Given the description of an element on the screen output the (x, y) to click on. 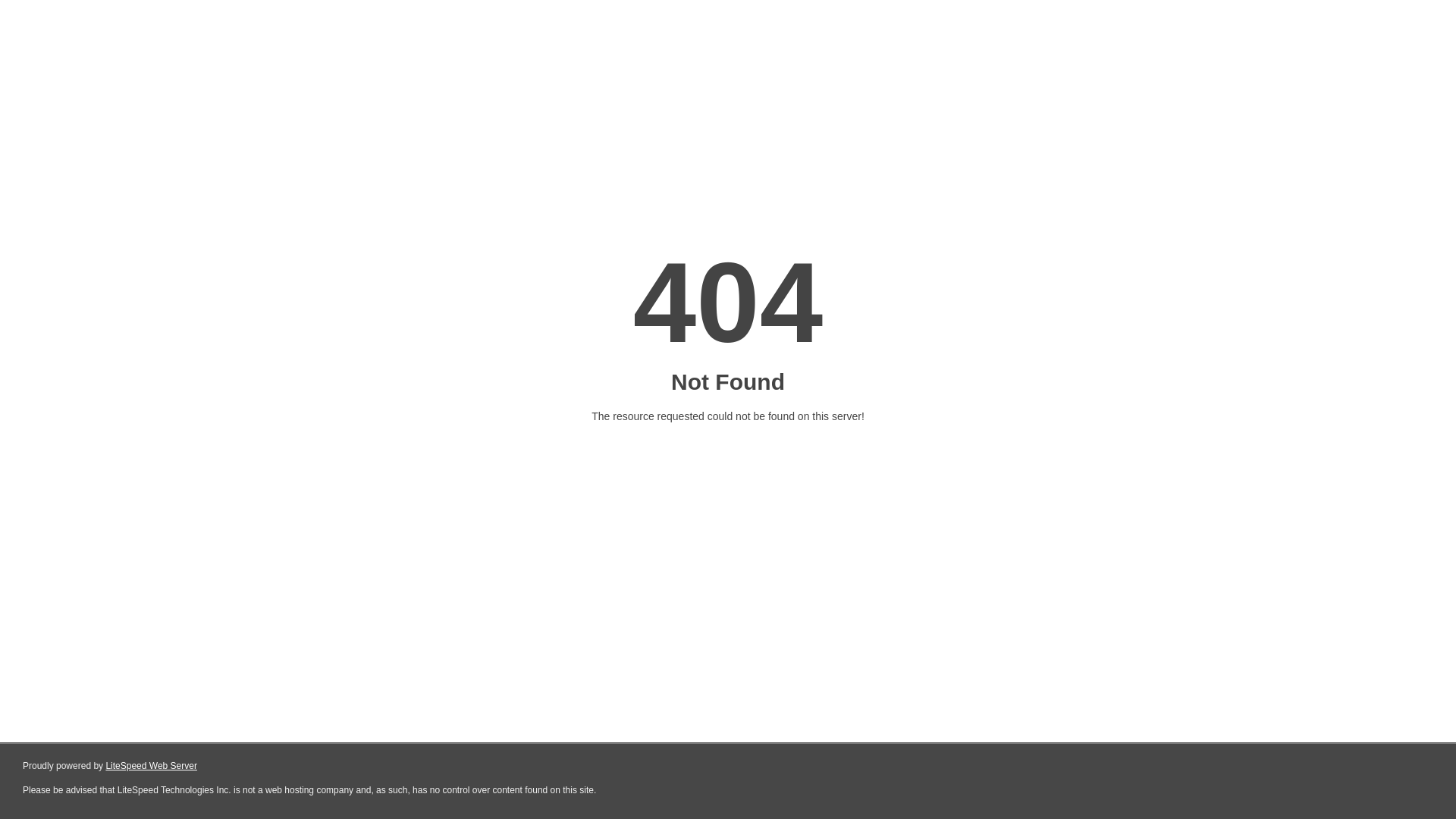
LiteSpeed Web Server Element type: text (151, 765)
